Given the description of an element on the screen output the (x, y) to click on. 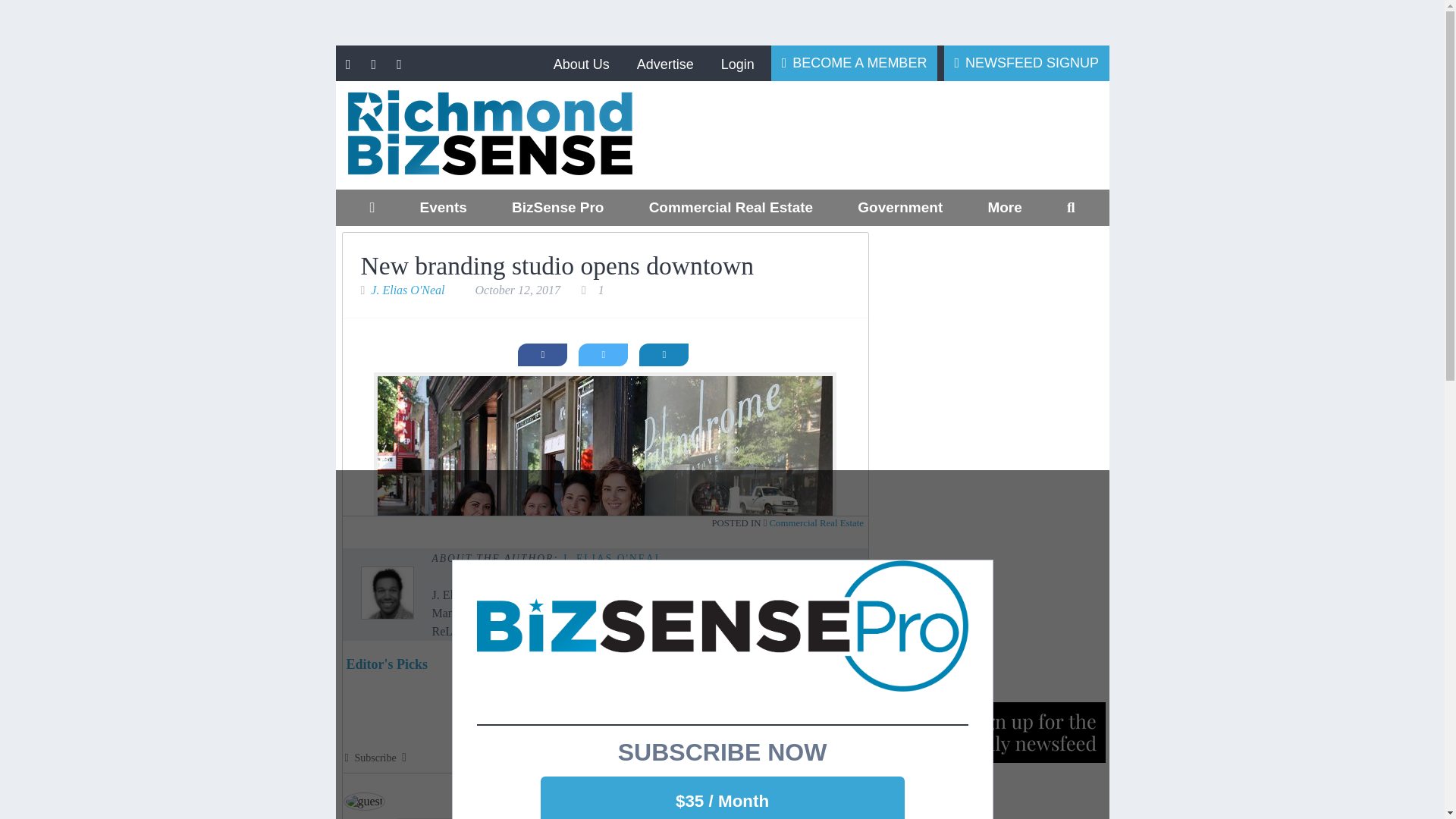
Posts by J. Elias O'Neal (612, 558)
Events (443, 207)
Advertise (664, 63)
Commercial Real Estate (730, 207)
New branding studio opens downtown 1 (604, 520)
NEWSFEED SIGNUP (1026, 62)
About Us (581, 63)
Login (737, 63)
More (1004, 207)
Government (900, 207)
BizSense Pro (557, 207)
BECOME A MEMBER (854, 62)
